Given the description of an element on the screen output the (x, y) to click on. 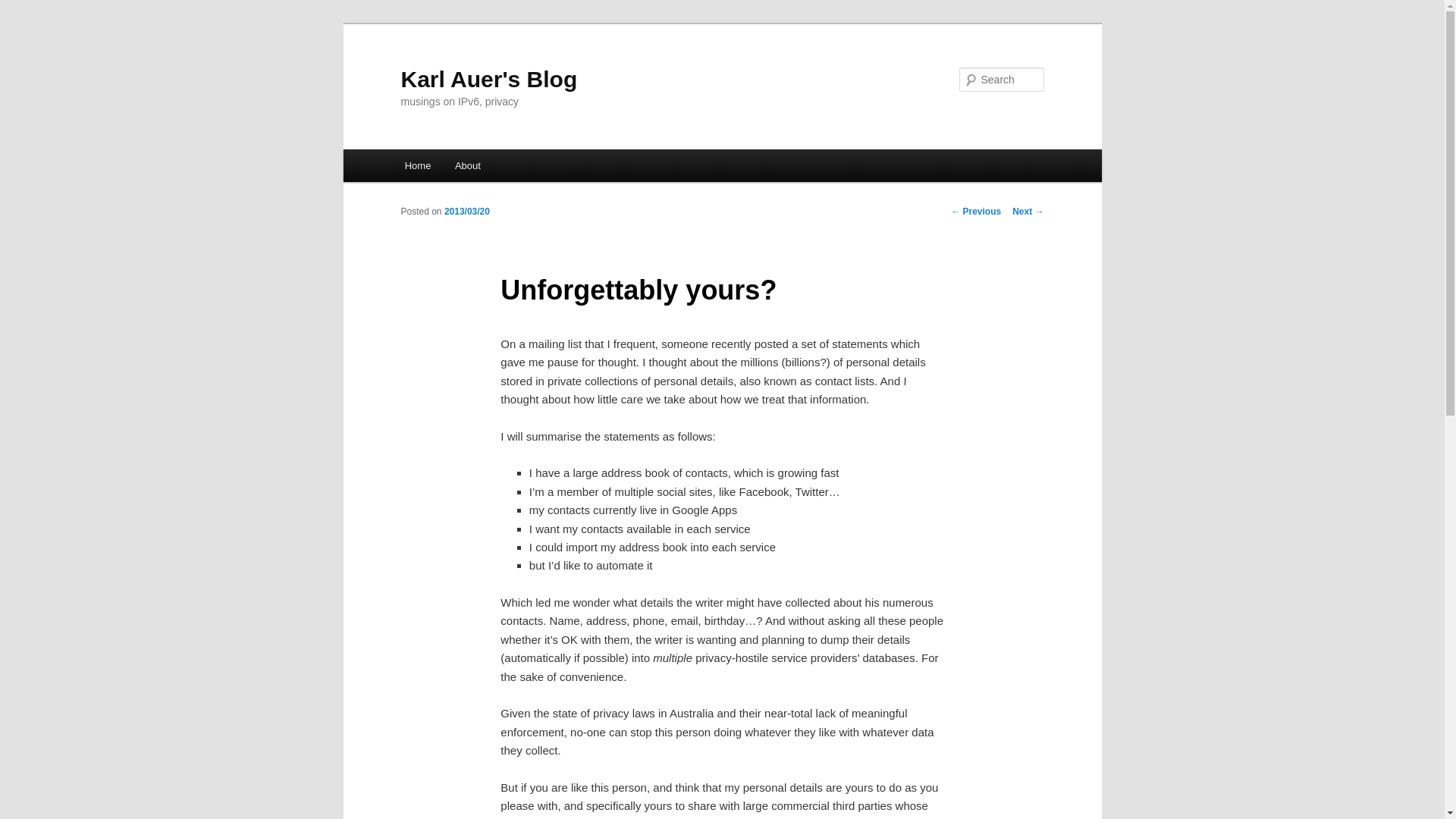
Search (24, 8)
Karl Auer's Blog (488, 78)
About (467, 165)
Home (417, 165)
09:17 (466, 211)
